Given the description of an element on the screen output the (x, y) to click on. 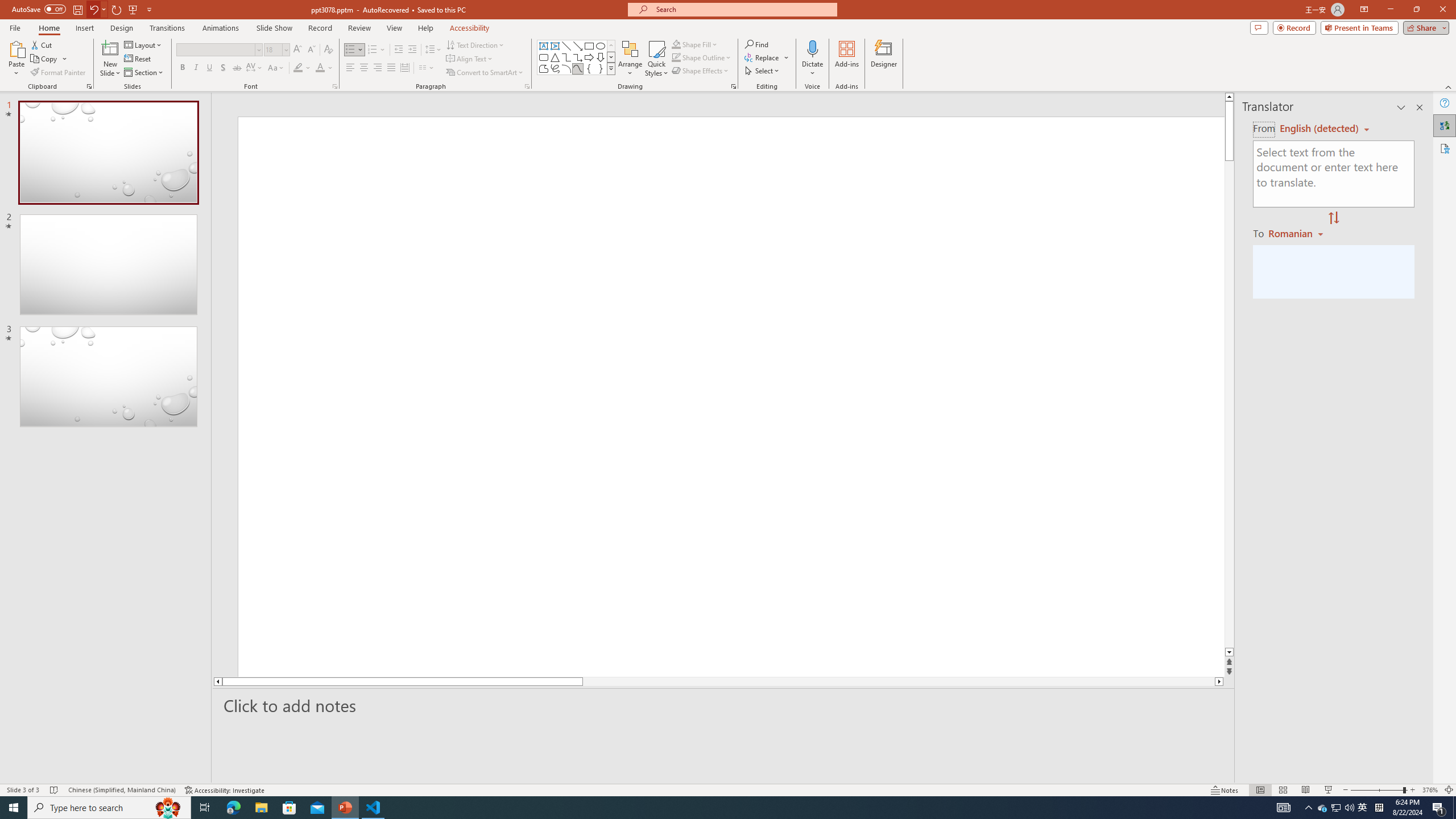
An abstract genetic concept (731, 396)
